Given the description of an element on the screen output the (x, y) to click on. 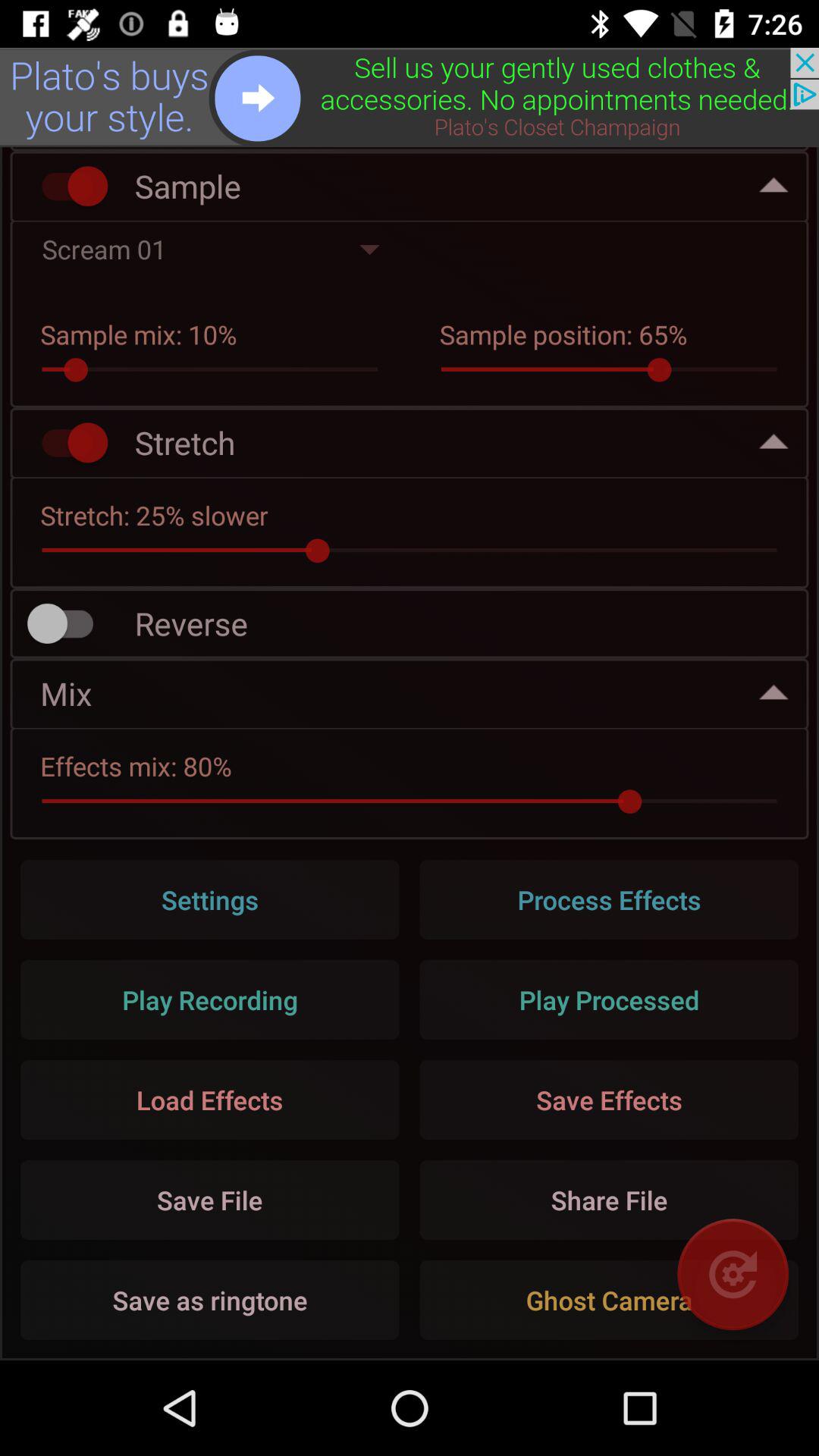
toggle effect (67, 442)
